Given the description of an element on the screen output the (x, y) to click on. 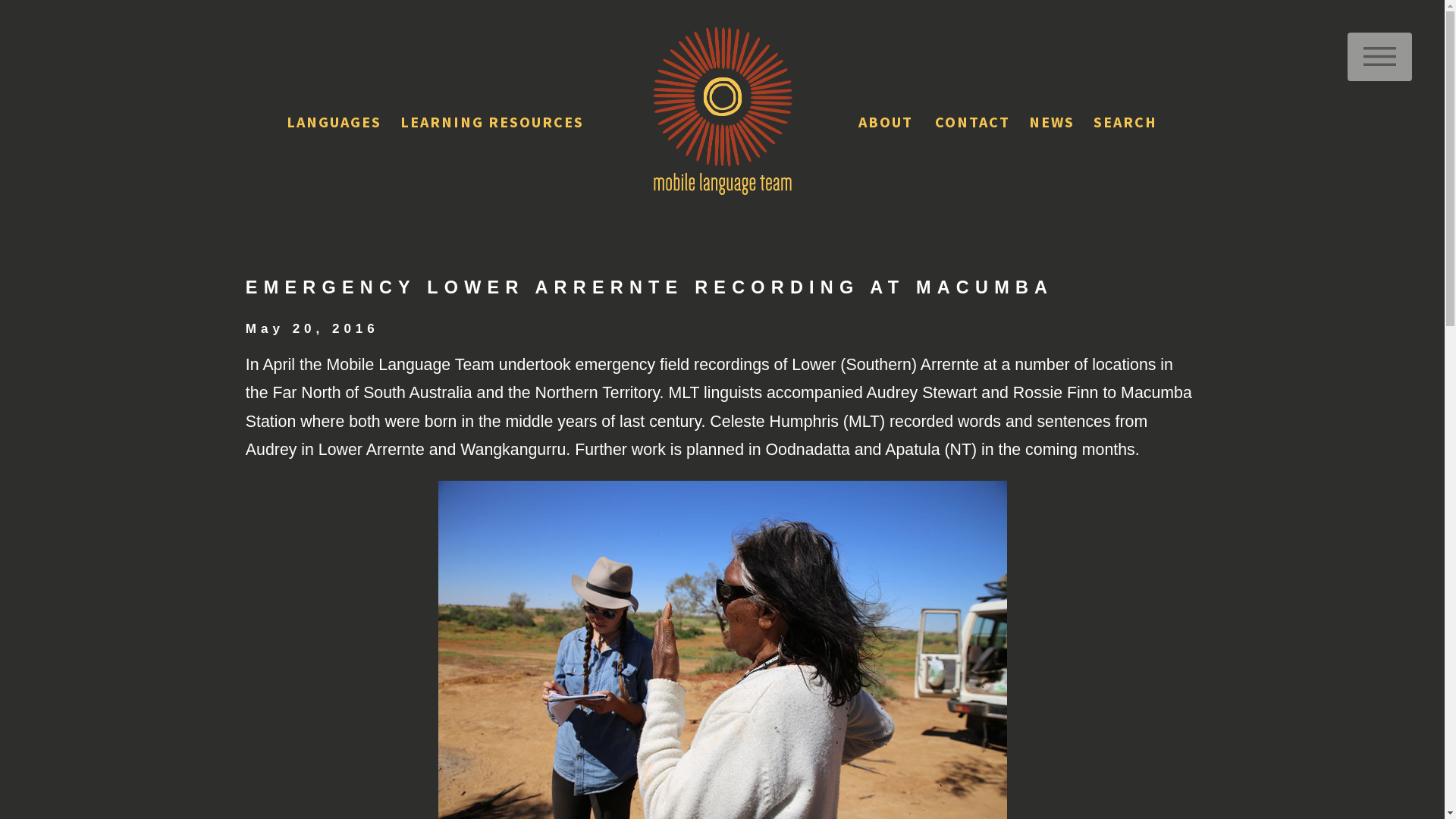
ABOUT Element type: text (887, 122)
CONTACT Element type: text (972, 122)
LANGUAGES Element type: text (333, 122)
SEARCH Element type: text (1125, 122)
LEARNING RESOURCES Element type: text (493, 122)
NEWS Element type: text (1051, 122)
MENU Element type: text (1379, 56)
